Given the description of an element on the screen output the (x, y) to click on. 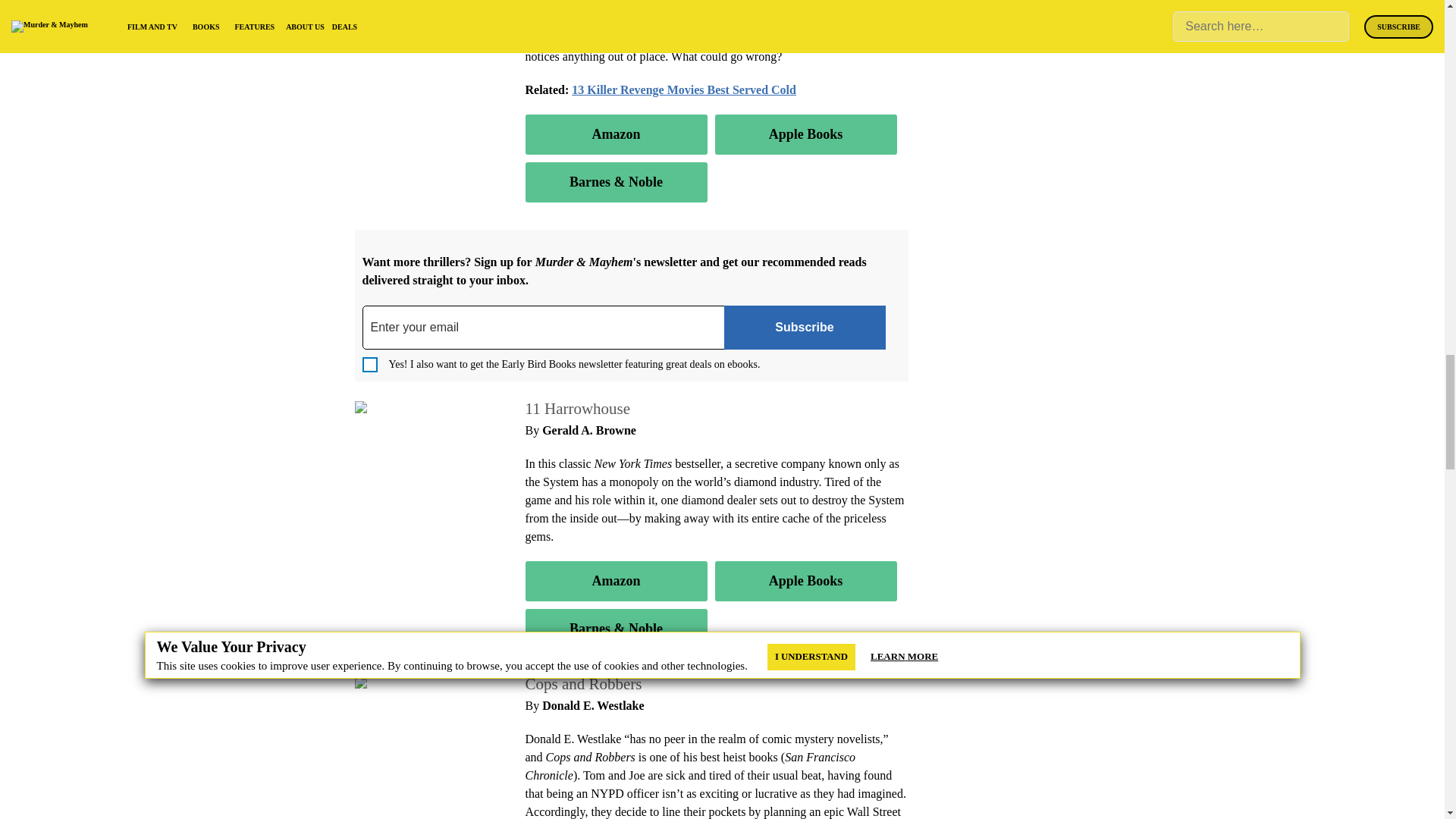
Cops-and-Robbers (405, 683)
11-Harrowhouse (400, 407)
